Given the description of an element on the screen output the (x, y) to click on. 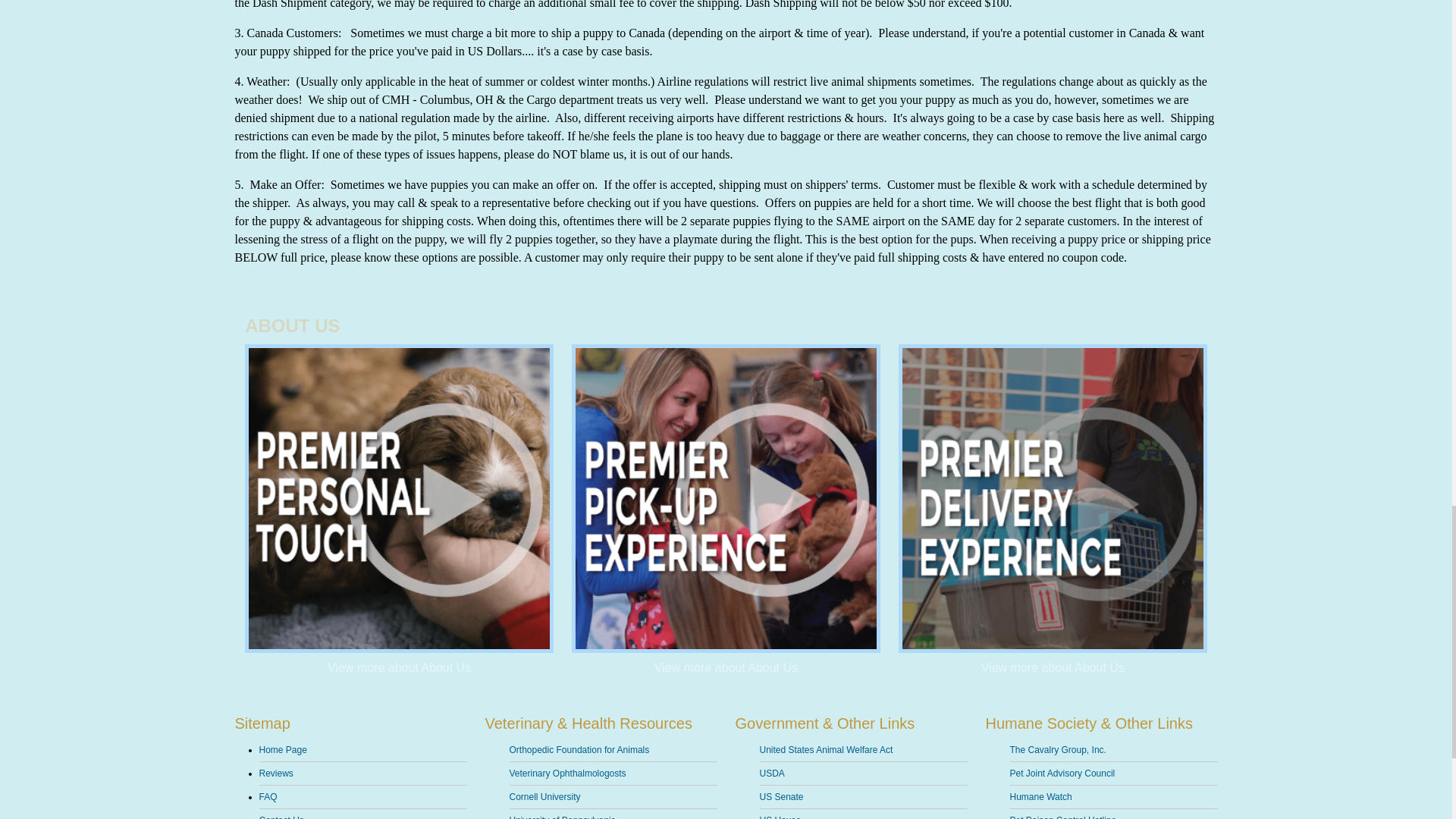
Veterinary Ophthalmologosts (613, 773)
US House (864, 814)
Contact Us (363, 814)
View more about About Us (725, 667)
US Senate (864, 797)
Orthopedic Foundation for Animals (613, 750)
USDA (864, 773)
United States Animal Welfare Act (864, 750)
The Cavalry Group, Inc. (1113, 750)
Reviews (363, 773)
University of Pennsylvania (613, 814)
View more about About Us (1052, 667)
View more about About Us (398, 667)
Home Page (363, 750)
Cornell University (613, 797)
